Given the description of an element on the screen output the (x, y) to click on. 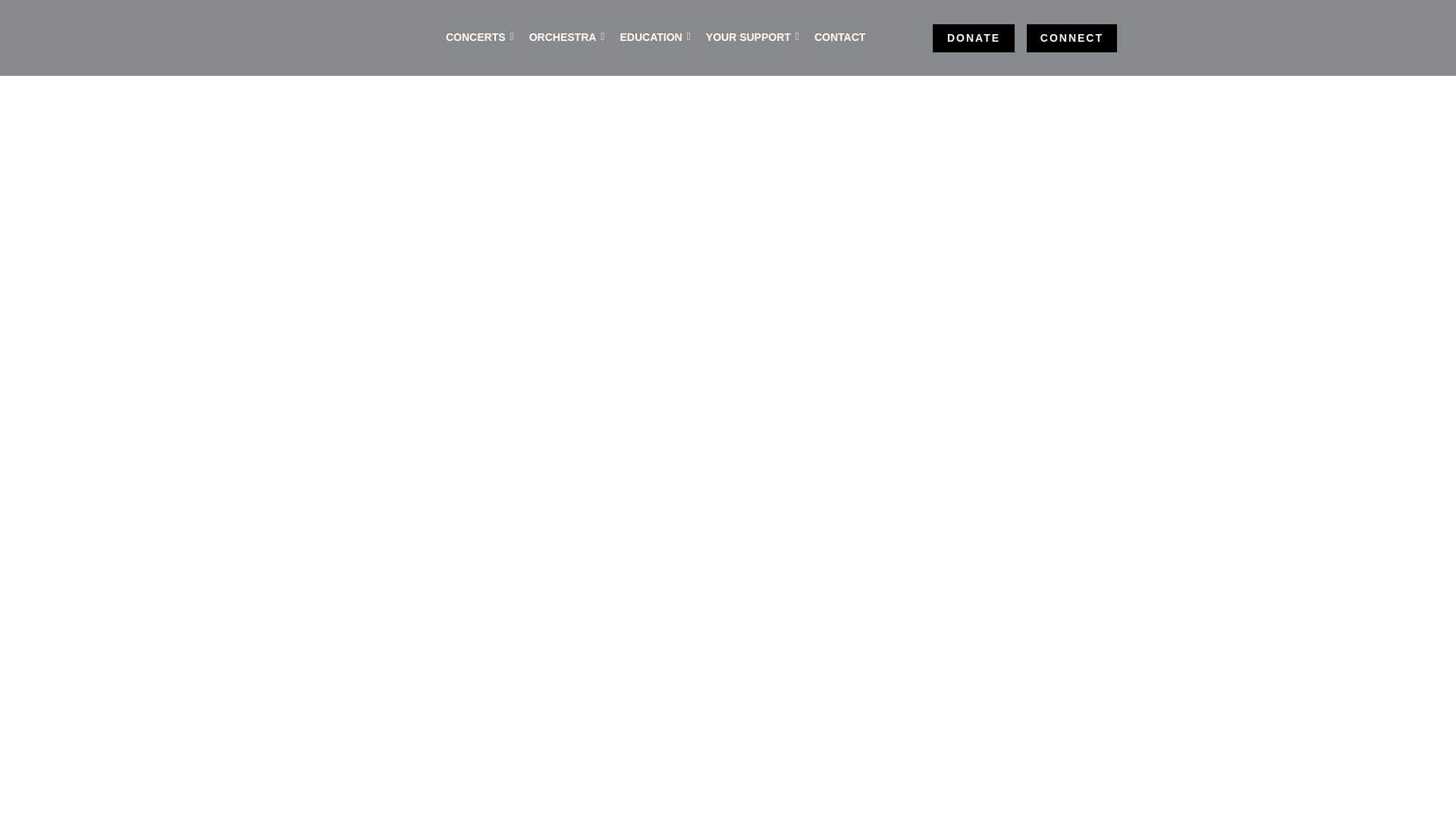
CONNECT (1072, 37)
DONATE (973, 37)
